Given the description of an element on the screen output the (x, y) to click on. 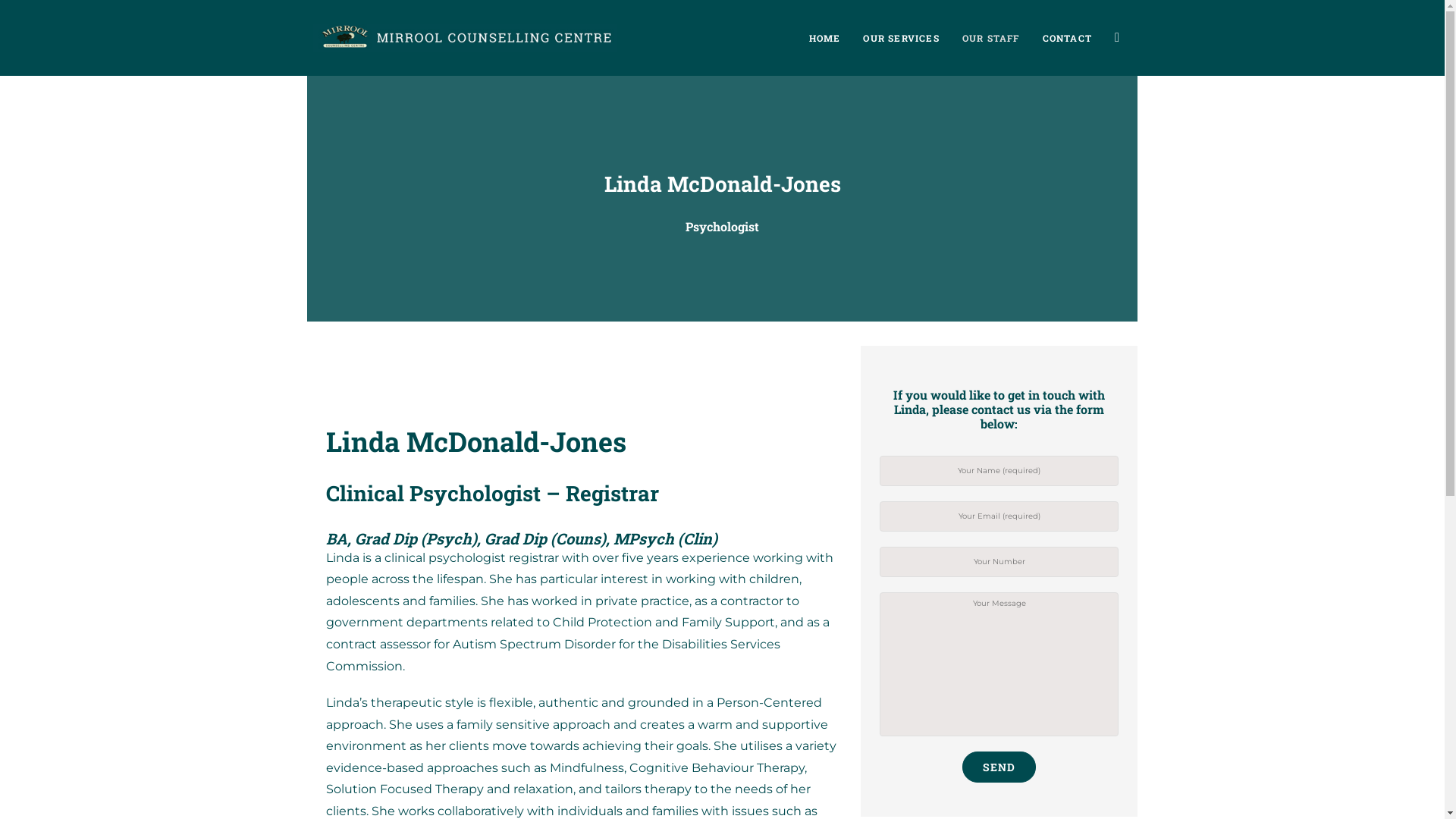
CONTACT Element type: text (1067, 37)
OUR STAFF Element type: text (990, 37)
Send Element type: text (998, 766)
HOME Element type: text (824, 37)
OUR SERVICES Element type: text (900, 37)
